Given the description of an element on the screen output the (x, y) to click on. 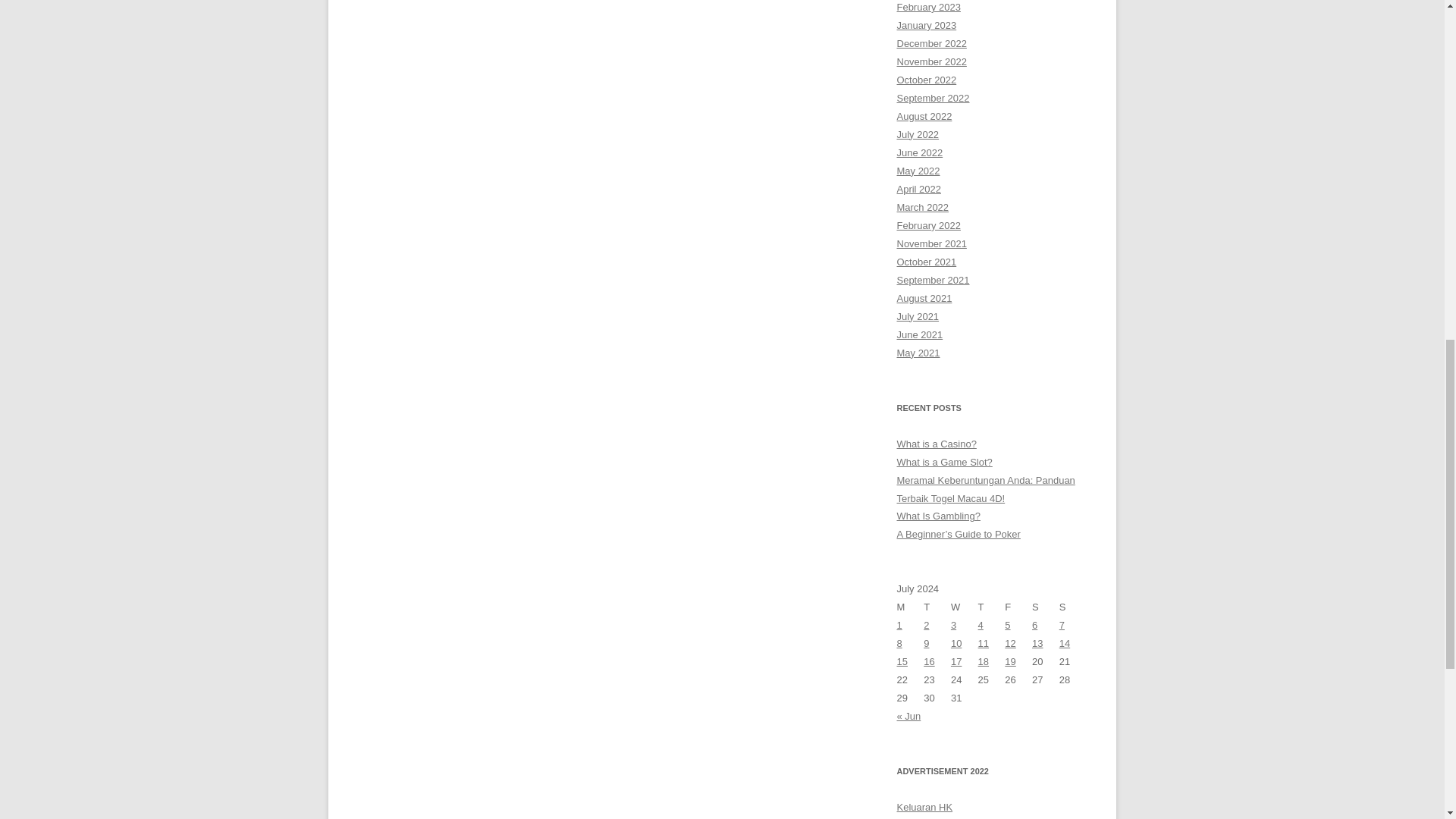
August 2022 (924, 116)
Saturday (1045, 607)
Friday (1018, 607)
September 2022 (932, 98)
December 2022 (931, 43)
January 2023 (926, 25)
November 2022 (931, 61)
Thursday (992, 607)
Wednesday (964, 607)
October 2022 (926, 79)
Tuesday (936, 607)
Sunday (1072, 607)
February 2023 (927, 7)
Monday (909, 607)
